Given the description of an element on the screen output the (x, y) to click on. 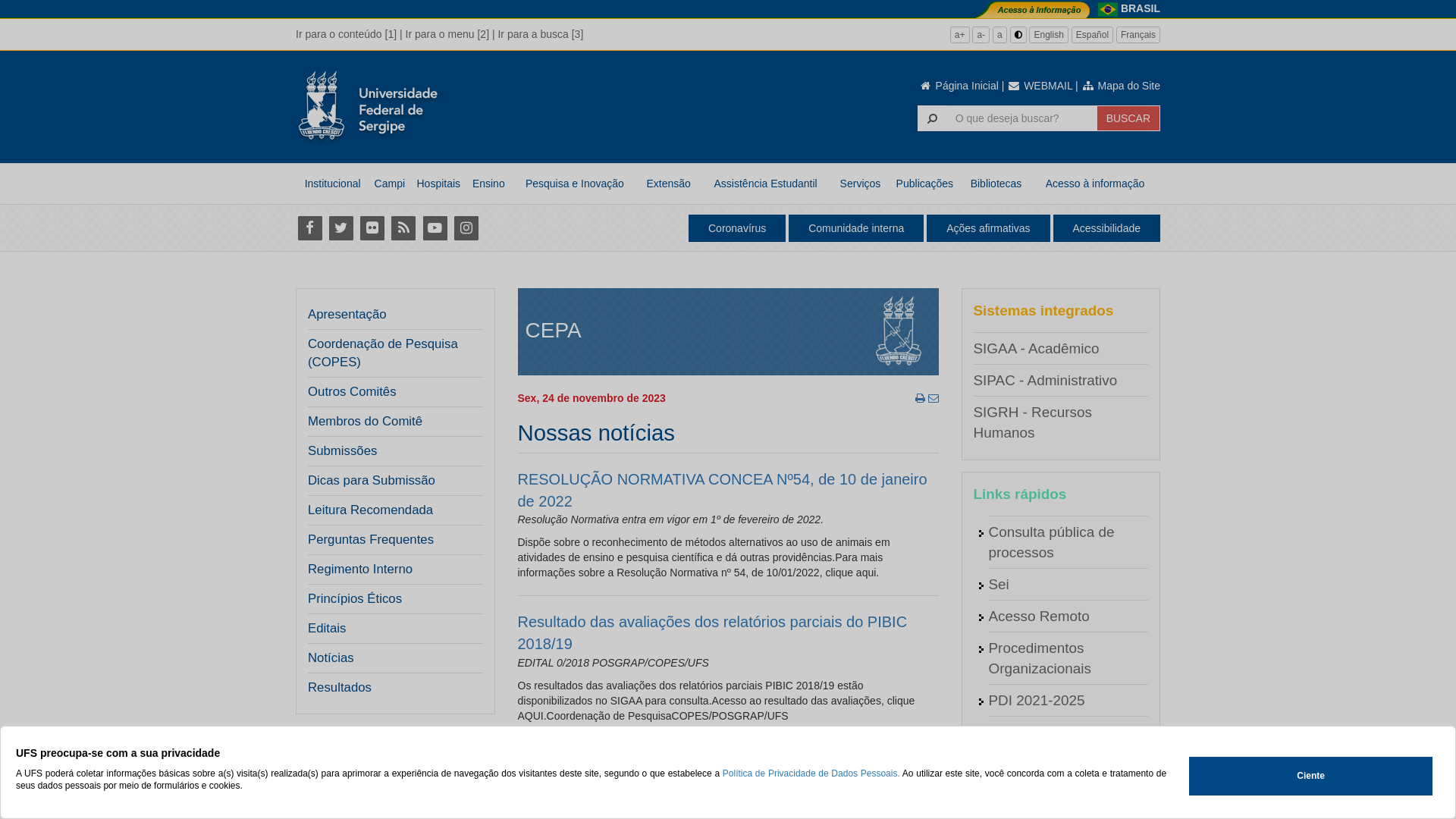
BUSCAR Element type: text (1128, 118)
a- Element type: text (980, 34)
Agenda do Reitor Element type: text (1044, 732)
English Element type: text (1048, 34)
WEBMAIL Element type: text (1039, 85)
Regimento Interno Element type: text (359, 569)
SIPAC - Administrativo Element type: text (1045, 380)
Ensino Element type: text (488, 183)
Comunidade interna Element type: text (855, 227)
Mapa do Site Element type: text (1120, 85)
a+ Element type: text (959, 34)
Twitter Element type: text (340, 227)
Bibliotecas Element type: text (995, 183)
Ir para a busca [3] Element type: text (540, 34)
Youtube Element type: text (434, 227)
Agenda do Vice-Reitor Element type: text (1060, 763)
Facebook Element type: text (309, 227)
Sei Element type: text (998, 584)
Campi Element type: text (389, 183)
Ir para o menu [2] Element type: text (447, 34)
Procedimentos Organizacionais Element type: text (1039, 658)
Hospitais Element type: text (438, 183)
Flickr Element type: text (371, 227)
Perguntas Frequentes Element type: text (370, 539)
Leitura Recomendada Element type: text (370, 509)
a Element type: text (999, 34)
Instagram Element type: text (465, 227)
Acessibilidade Element type: text (1106, 227)
Telefones Element type: text (1019, 795)
BRASIL Element type: text (1140, 8)
Institucional Element type: text (332, 183)
Editais Element type: text (326, 628)
Acesso Remoto Element type: text (1038, 616)
SIGRH - Recursos Humanos Element type: text (1032, 422)
PDI 2021-2025 Element type: text (1036, 700)
RSS Element type: text (403, 227)
Resultados Element type: text (339, 687)
